Given the description of an element on the screen output the (x, y) to click on. 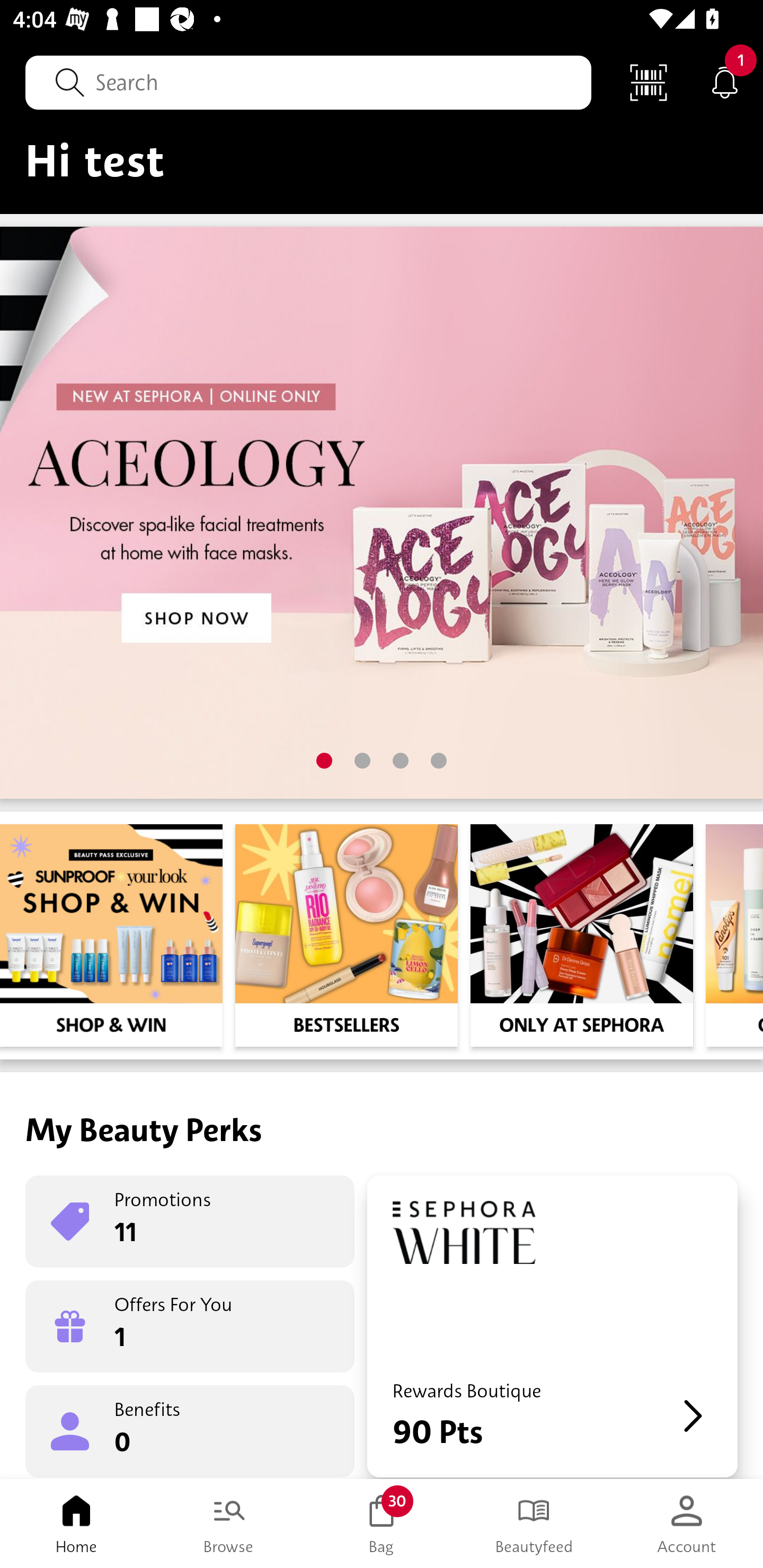
Scan Code (648, 81)
Notifications (724, 81)
Search (308, 81)
Promotions 11 (189, 1221)
Rewards Boutique 90 Pts (552, 1326)
Offers For You 1 (189, 1326)
Benefits 0 (189, 1430)
Browse (228, 1523)
Bag 30 Bag (381, 1523)
Beautyfeed (533, 1523)
Account (686, 1523)
